Given the description of an element on the screen output the (x, y) to click on. 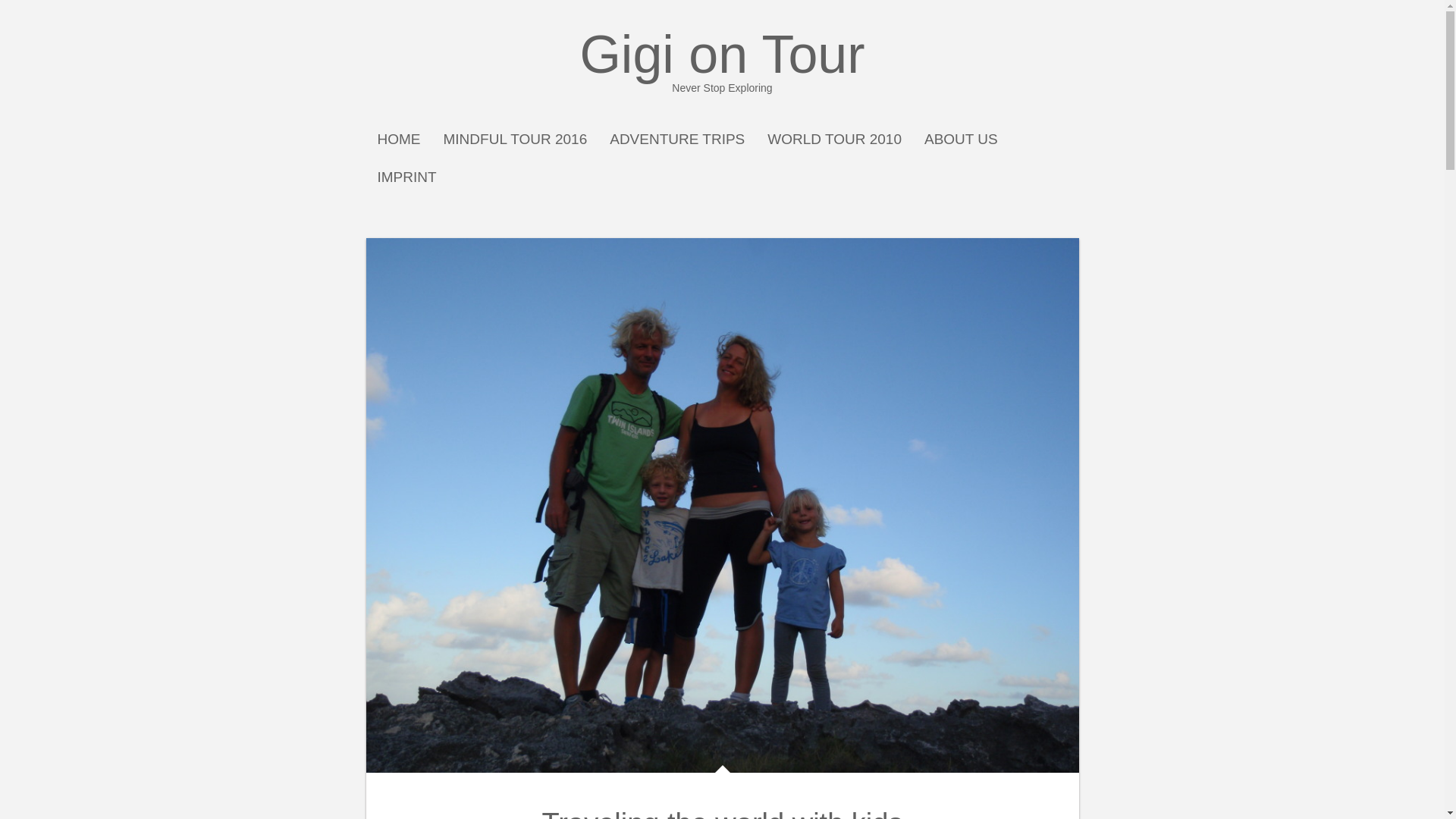
IMPRINT (721, 61)
HOME (406, 177)
Traveling the world with kids (398, 139)
Gigi on Tour (721, 813)
ADVENTURE TRIPS (721, 61)
ABOUT US (677, 139)
WORLD TOUR 2010 (960, 139)
MINDFUL TOUR 2016 (834, 139)
